Given the description of an element on the screen output the (x, y) to click on. 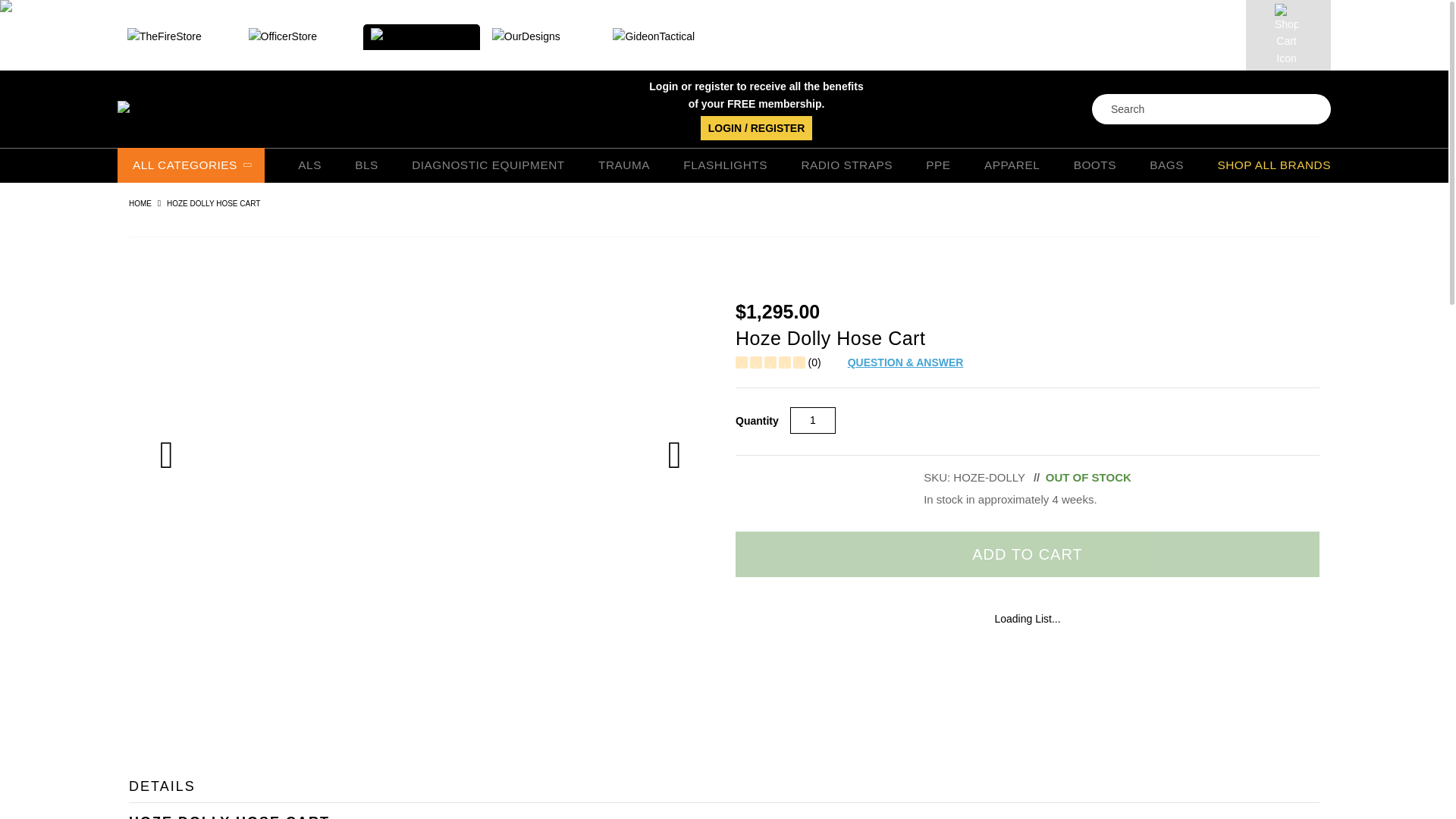
SHOP ALL BRANDS (1273, 166)
ALL CATEGORIES (190, 165)
RADIO STRAPS (846, 166)
Witmer Public Safety Group (268, 109)
DIAGNOSTIC EQUIPMENT (488, 166)
Cart (1287, 35)
OurDesigns (542, 36)
ALS (309, 166)
BOOTS (1095, 166)
1 (812, 420)
GideonTactical (663, 36)
OfficerStore (299, 36)
BAGS (1166, 166)
TRAUMA (623, 166)
FLASHLIGHTS (724, 166)
